Given the description of an element on the screen output the (x, y) to click on. 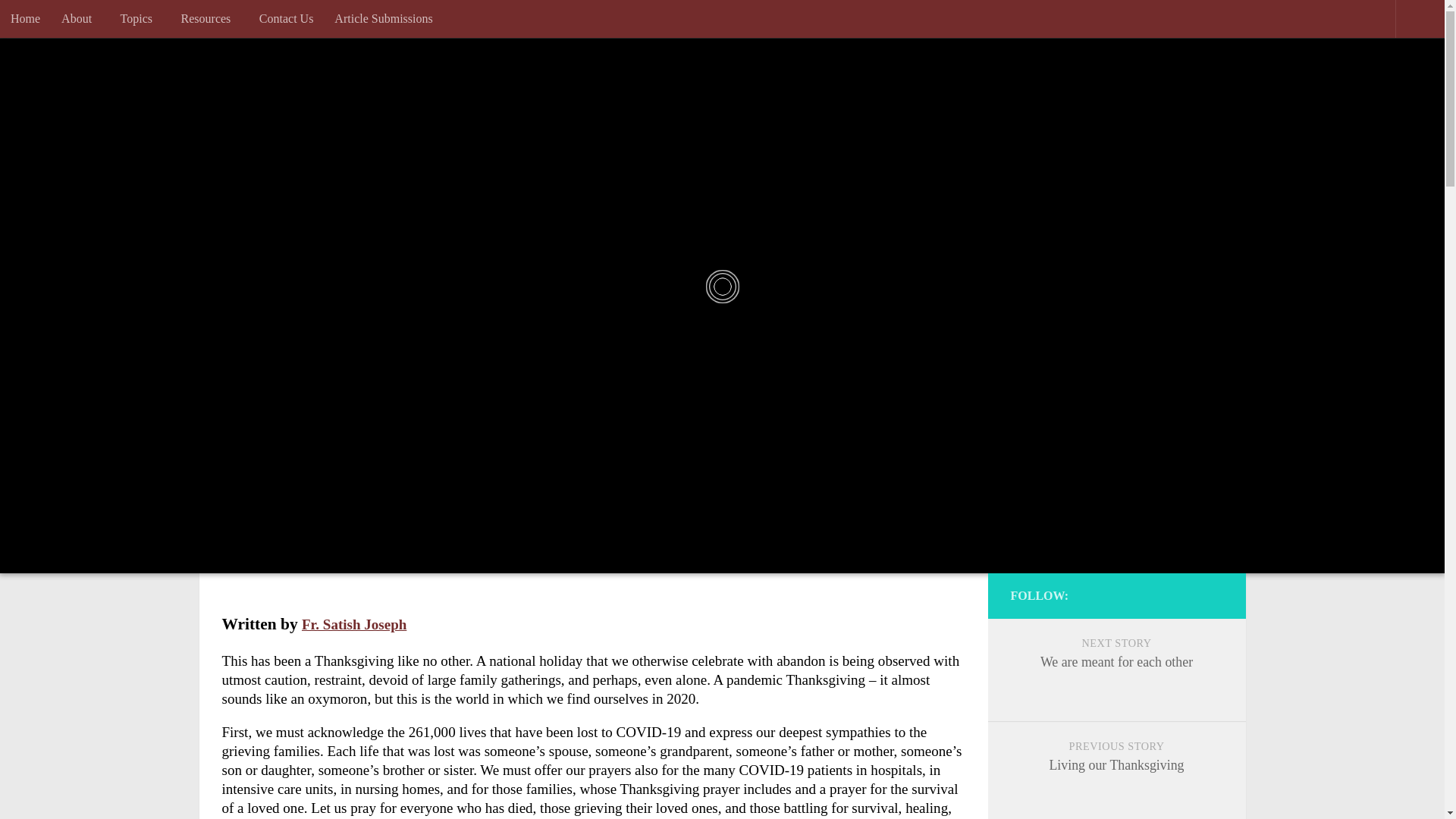
Article Submissions (382, 18)
Resources (209, 18)
Topics (140, 18)
Fr. Satish Joseph (353, 624)
Skip to content (66, 22)
Home (25, 18)
About (80, 18)
Contact Us (286, 18)
